Given the description of an element on the screen output the (x, y) to click on. 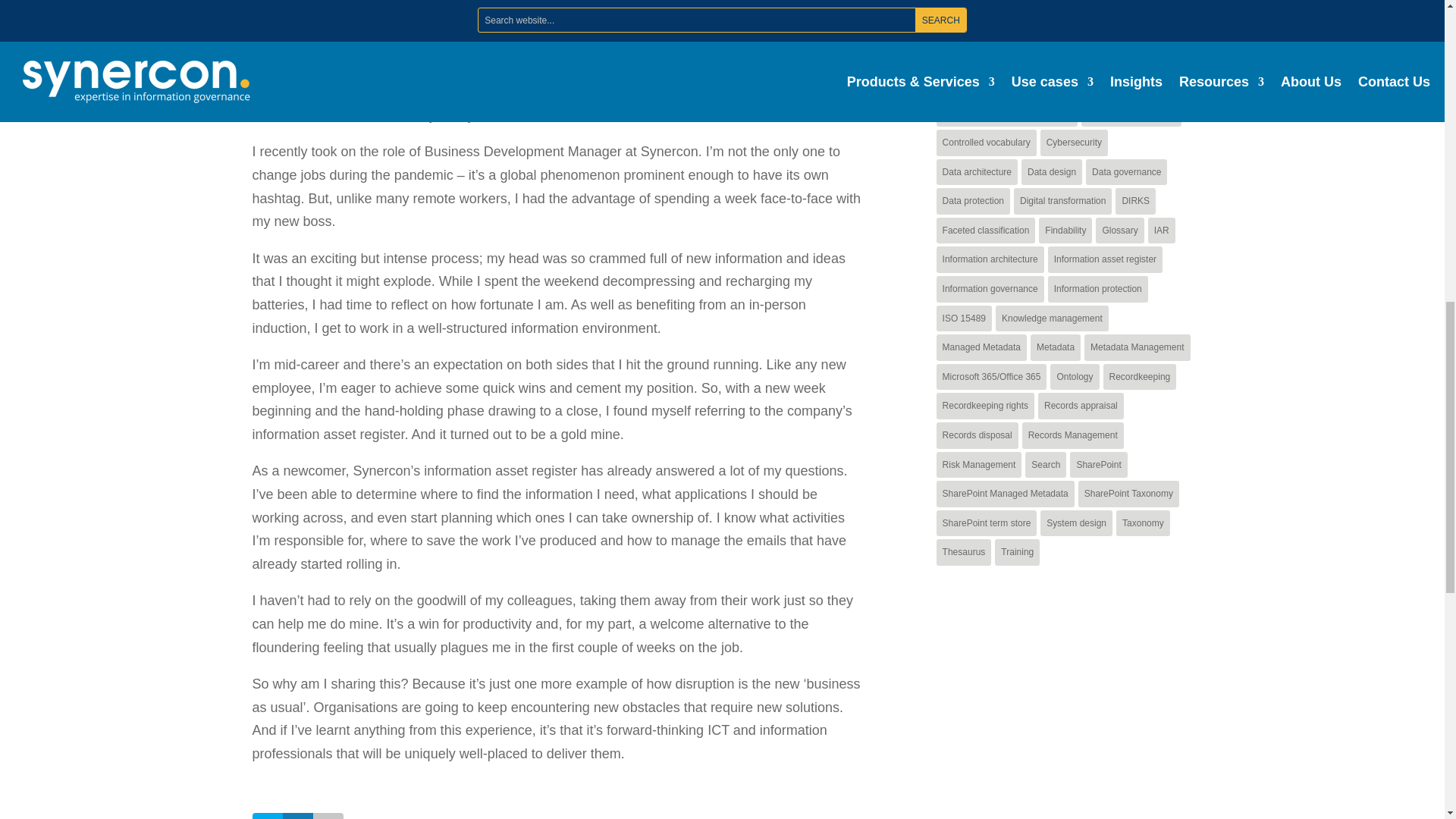
Search (1167, 1)
